Given the description of an element on the screen output the (x, y) to click on. 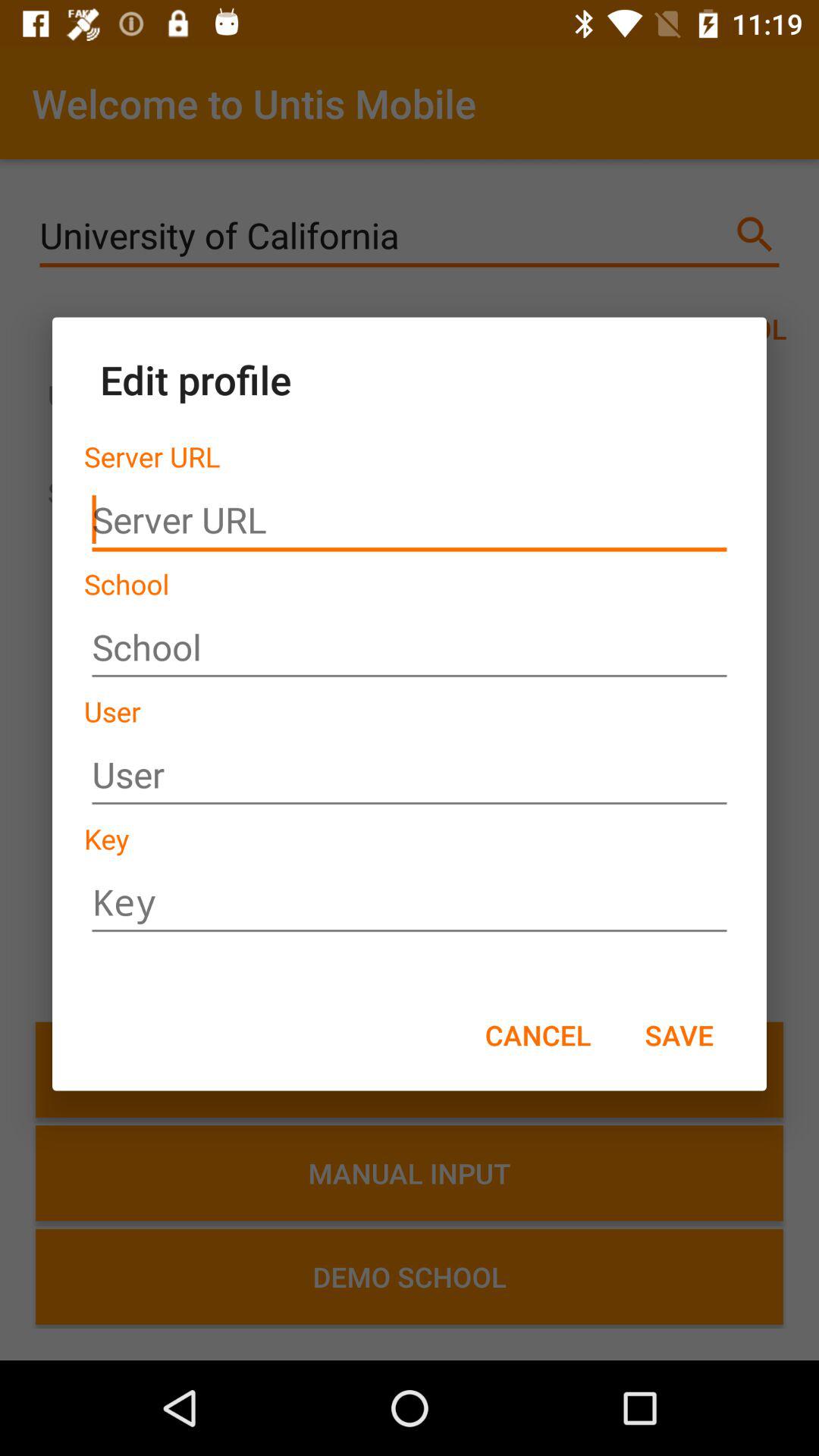
tap the save (678, 1034)
